Given the description of an element on the screen output the (x, y) to click on. 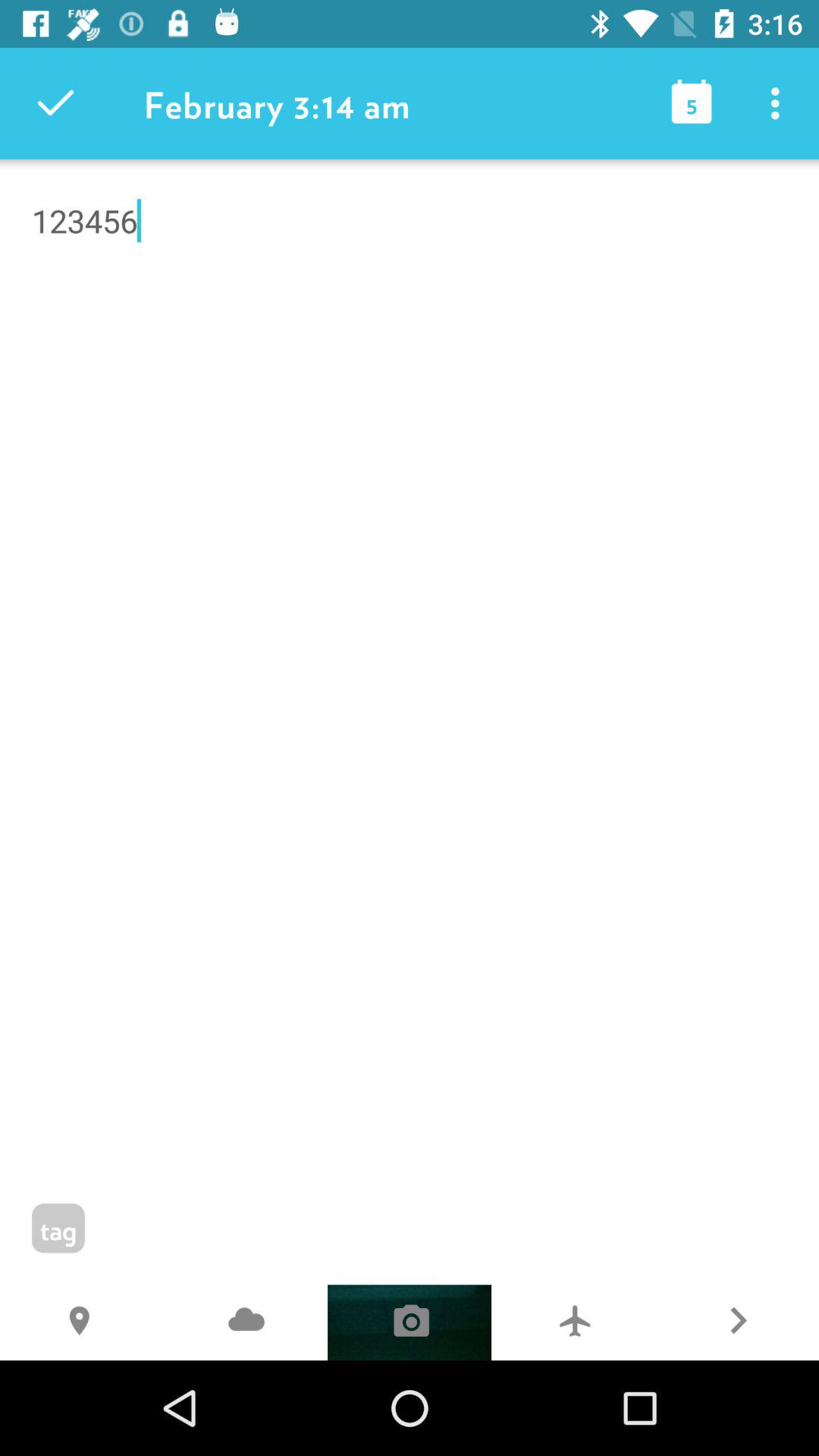
jump to the 7 item (573, 1322)
